Given the description of an element on the screen output the (x, y) to click on. 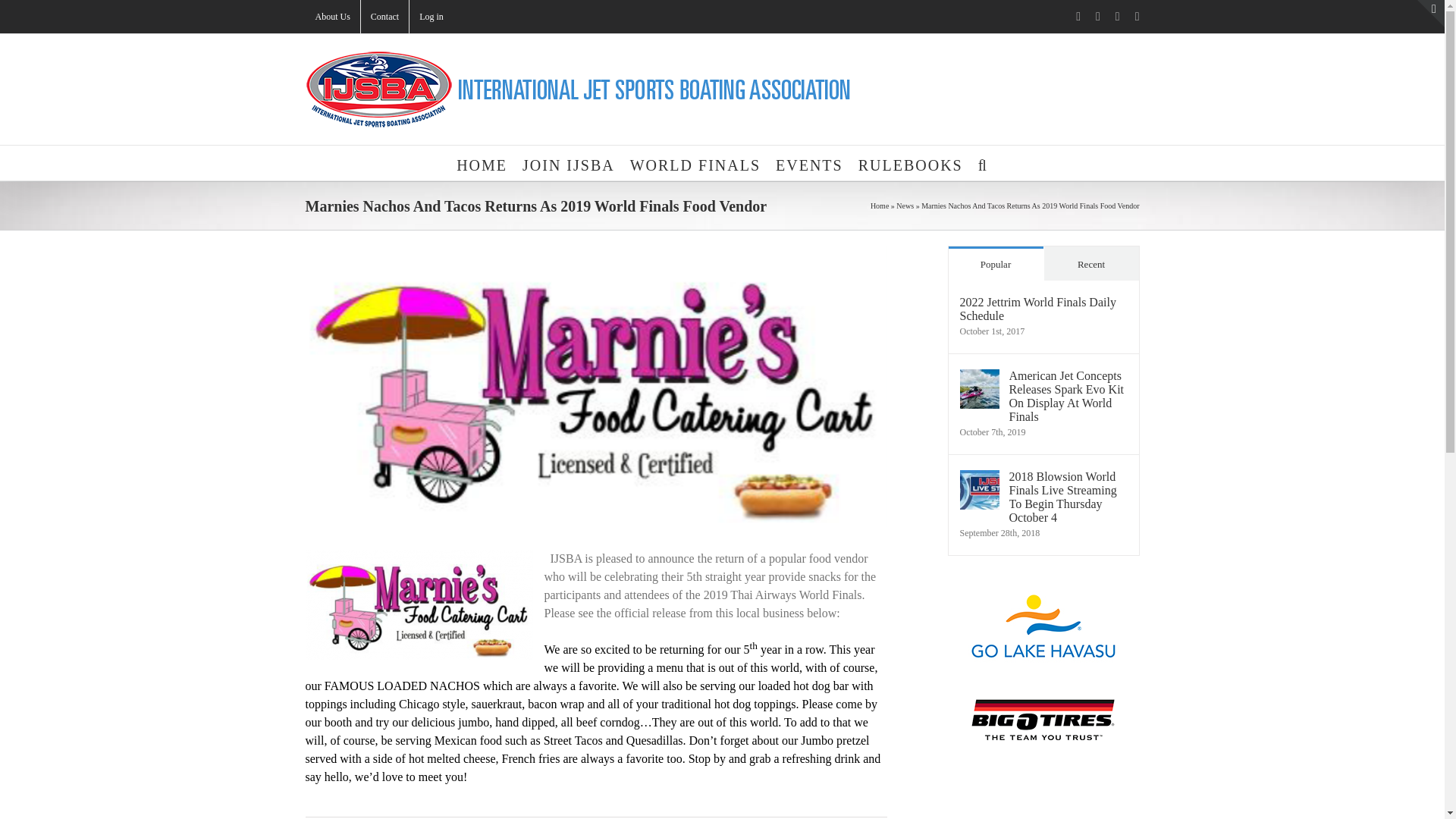
News (905, 205)
HOME (481, 162)
Home (879, 205)
EVENTS (809, 162)
WORLD FINALS (695, 162)
JOIN IJSBA (568, 162)
RULEBOOKS (910, 162)
Contact (385, 16)
Log in (430, 16)
About Us (331, 16)
